Given the description of an element on the screen output the (x, y) to click on. 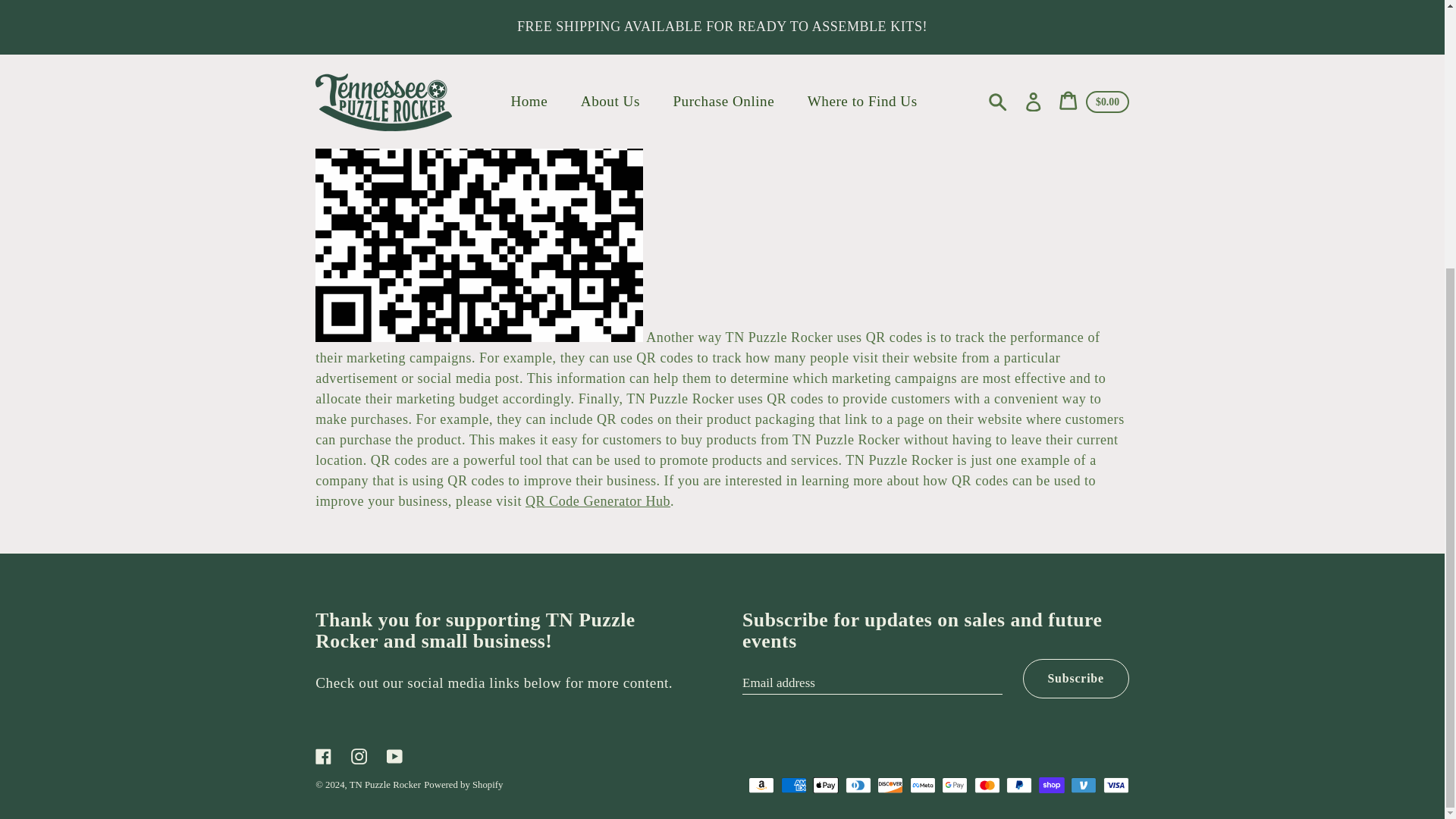
YouTube (394, 755)
Discover (889, 785)
Facebook (323, 755)
Instagram (358, 755)
Shop Pay (1051, 785)
Meta Pay (923, 785)
American Express (793, 785)
Google Pay (955, 785)
Subscribe (1076, 678)
TN Puzzle Rocker (384, 784)
Venmo (1083, 785)
QR Code Generator Hub (597, 500)
PayPal (1019, 785)
Apple Pay (825, 785)
Amazon (761, 785)
